Given the description of an element on the screen output the (x, y) to click on. 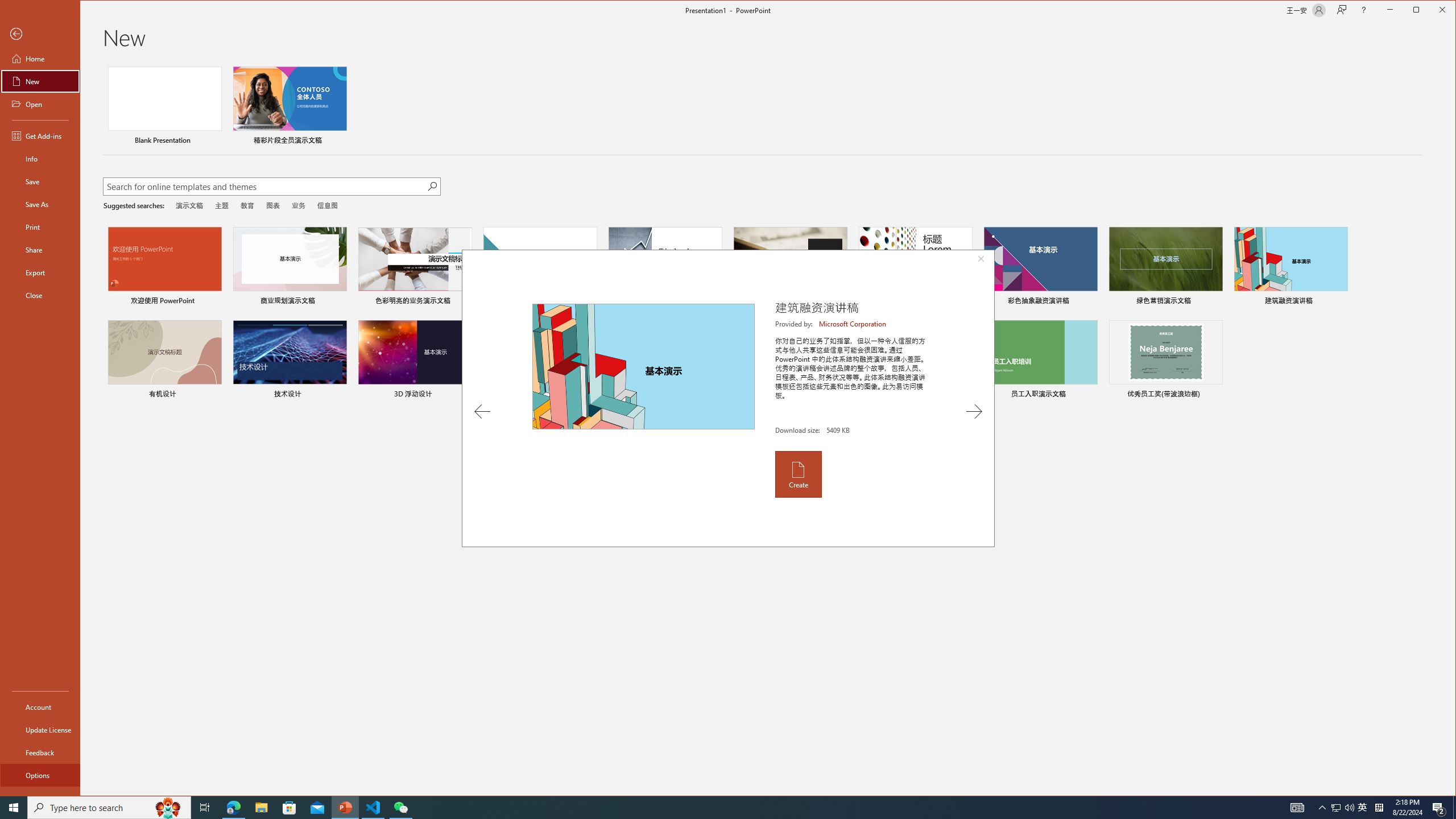
Export (40, 272)
